Given the description of an element on the screen output the (x, y) to click on. 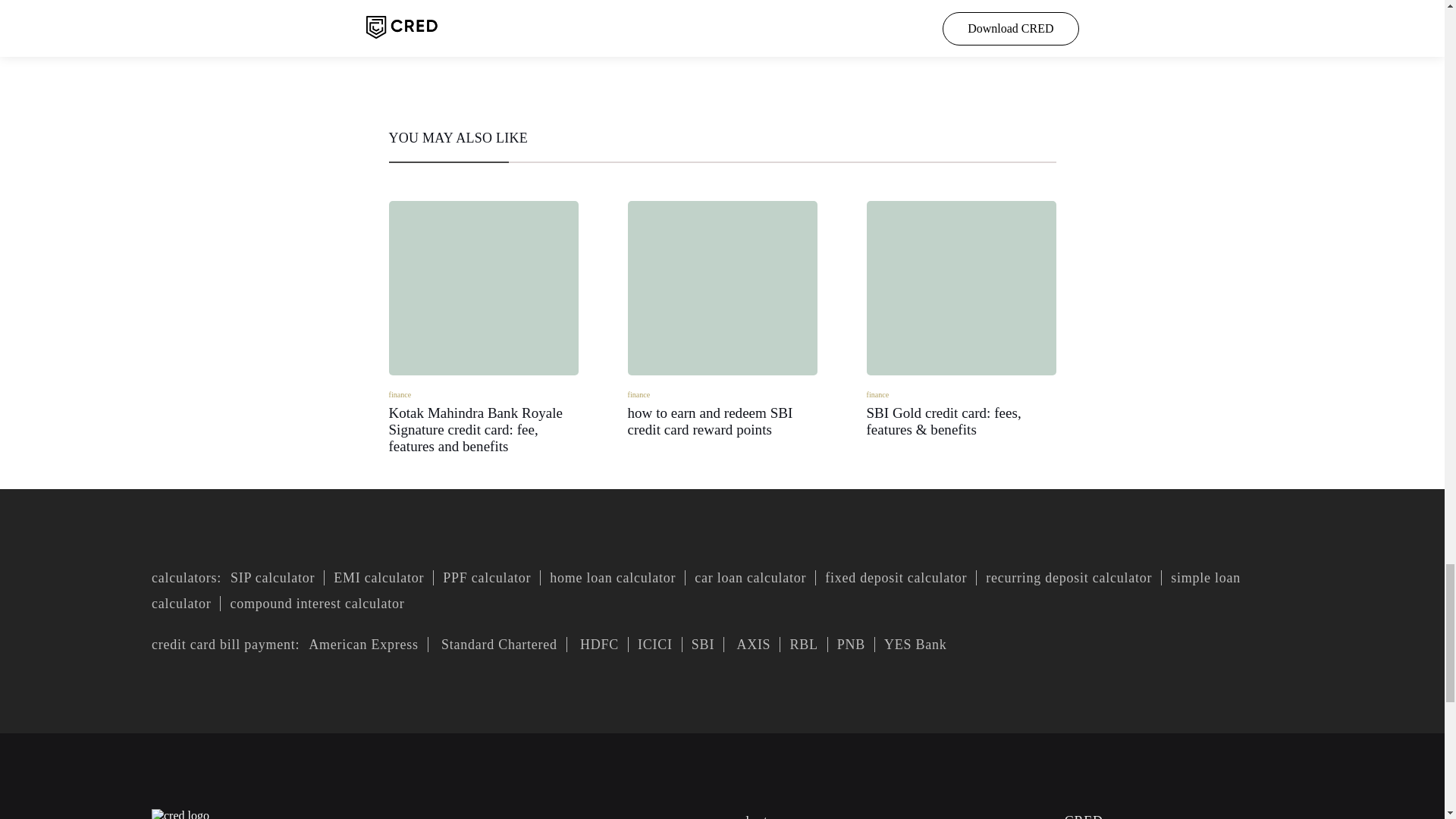
SIP calculator (272, 577)
PNB (851, 644)
RBL (803, 644)
credit card bill payment: (225, 644)
PPF calculator (486, 577)
car loan calculator (750, 577)
ICICI (655, 644)
fixed deposit calculator (895, 577)
compound interest calculator (317, 603)
calculators: (186, 577)
American Express (363, 644)
AXIS (751, 644)
HDFC (721, 319)
YES Bank (597, 644)
